Given the description of an element on the screen output the (x, y) to click on. 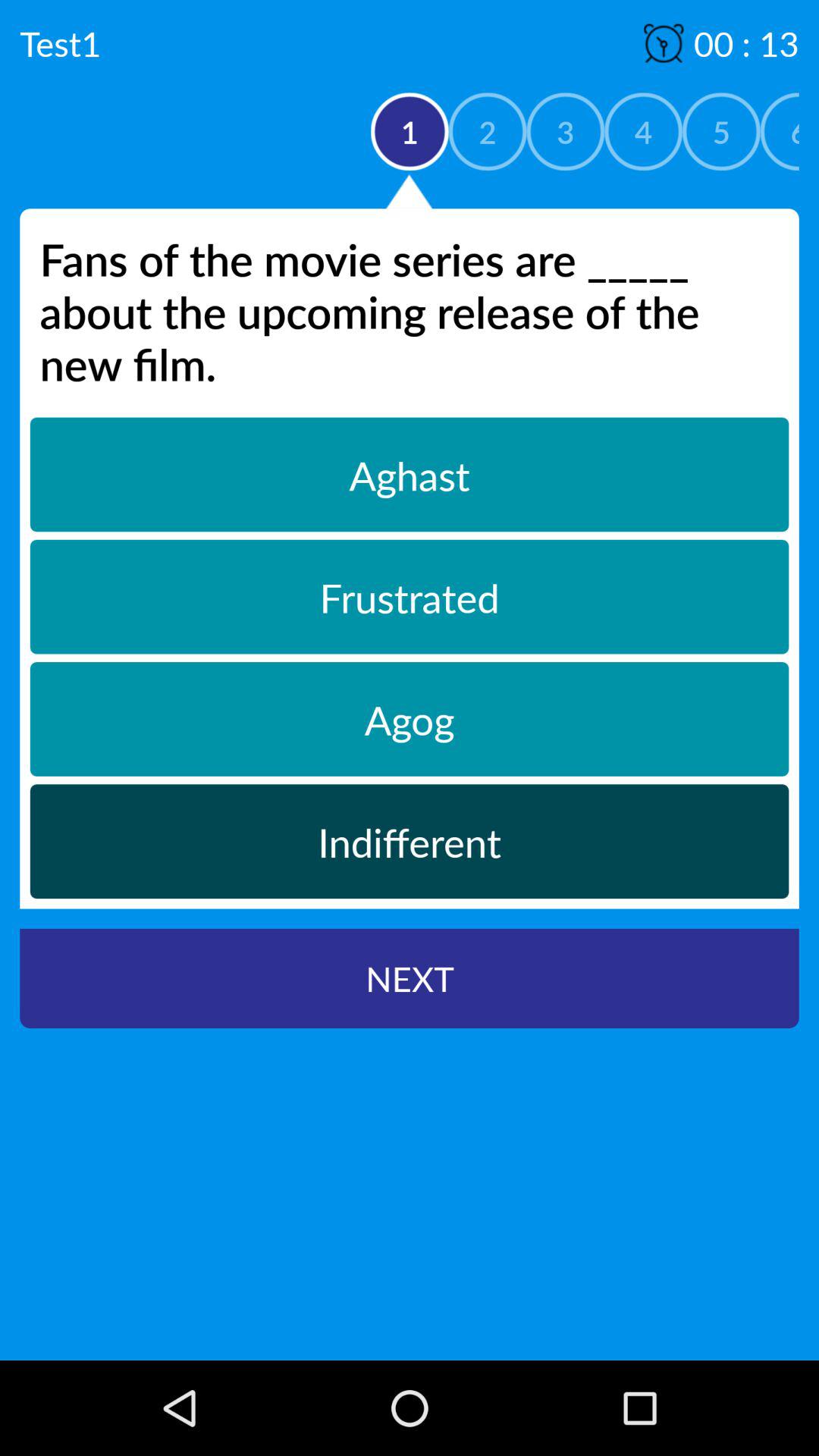
select the next button on a page (409, 977)
select the first tab (409, 474)
